Given the description of an element on the screen output the (x, y) to click on. 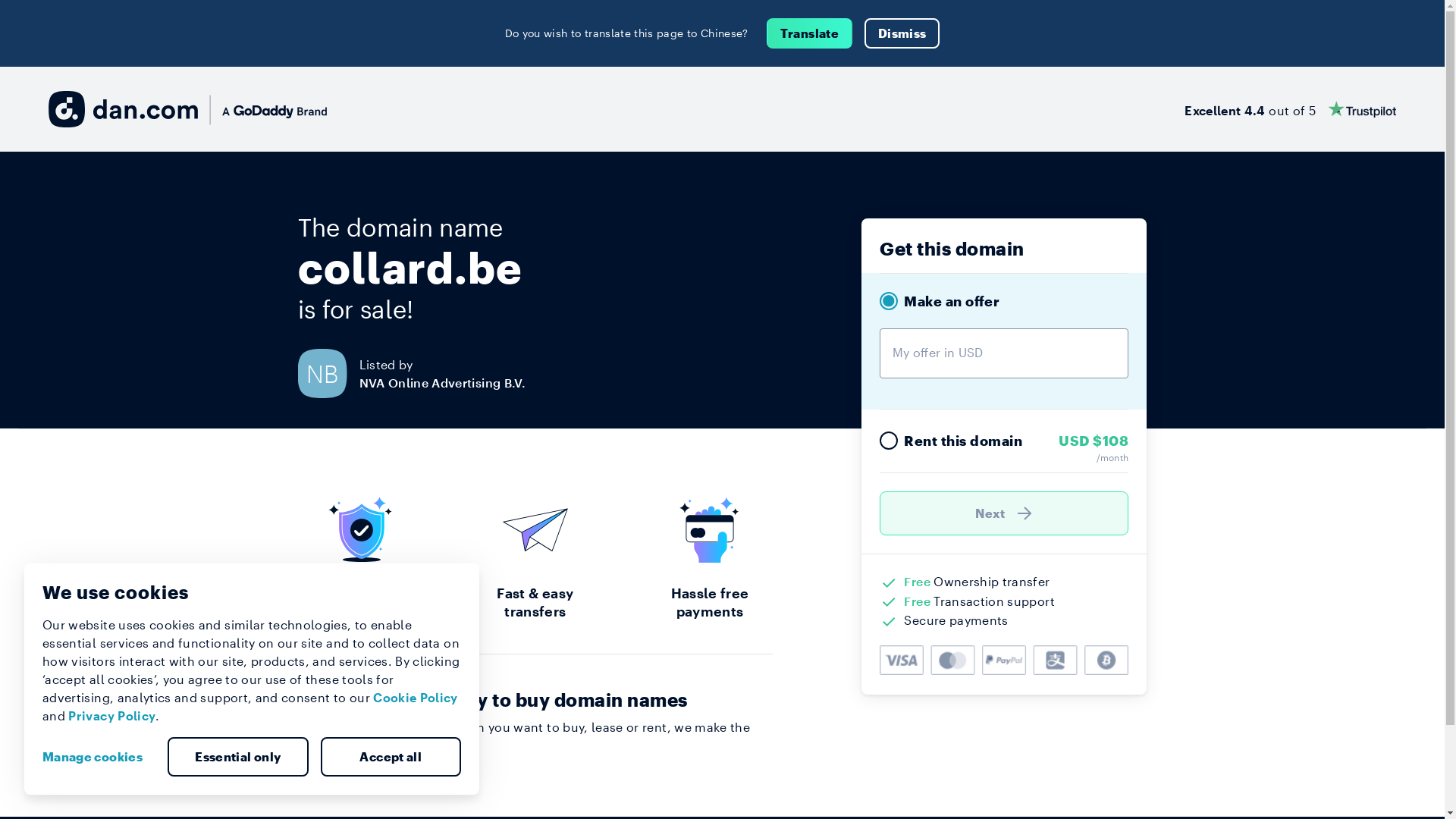
Essential only Element type: text (237, 756)
Accept all Element type: text (390, 756)
Privacy Policy Element type: text (111, 715)
Dismiss Element type: text (901, 33)
Manage cookies Element type: text (98, 756)
Next
) Element type: text (1003, 513)
Excellent 4.4 out of 5 Element type: text (1290, 109)
Translate Element type: text (809, 33)
Cookie Policy Element type: text (415, 697)
